Given the description of an element on the screen output the (x, y) to click on. 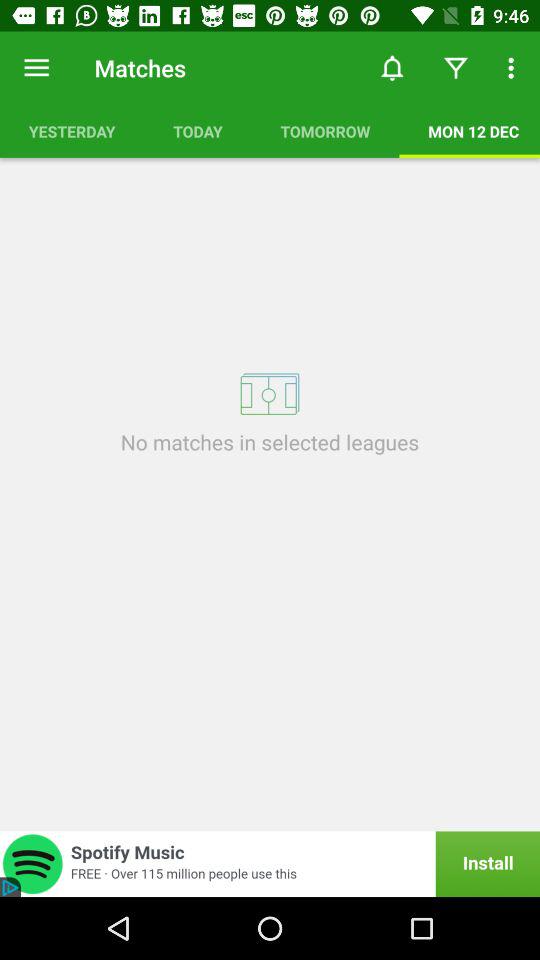
scroll to yesterday (72, 131)
